Given the description of an element on the screen output the (x, y) to click on. 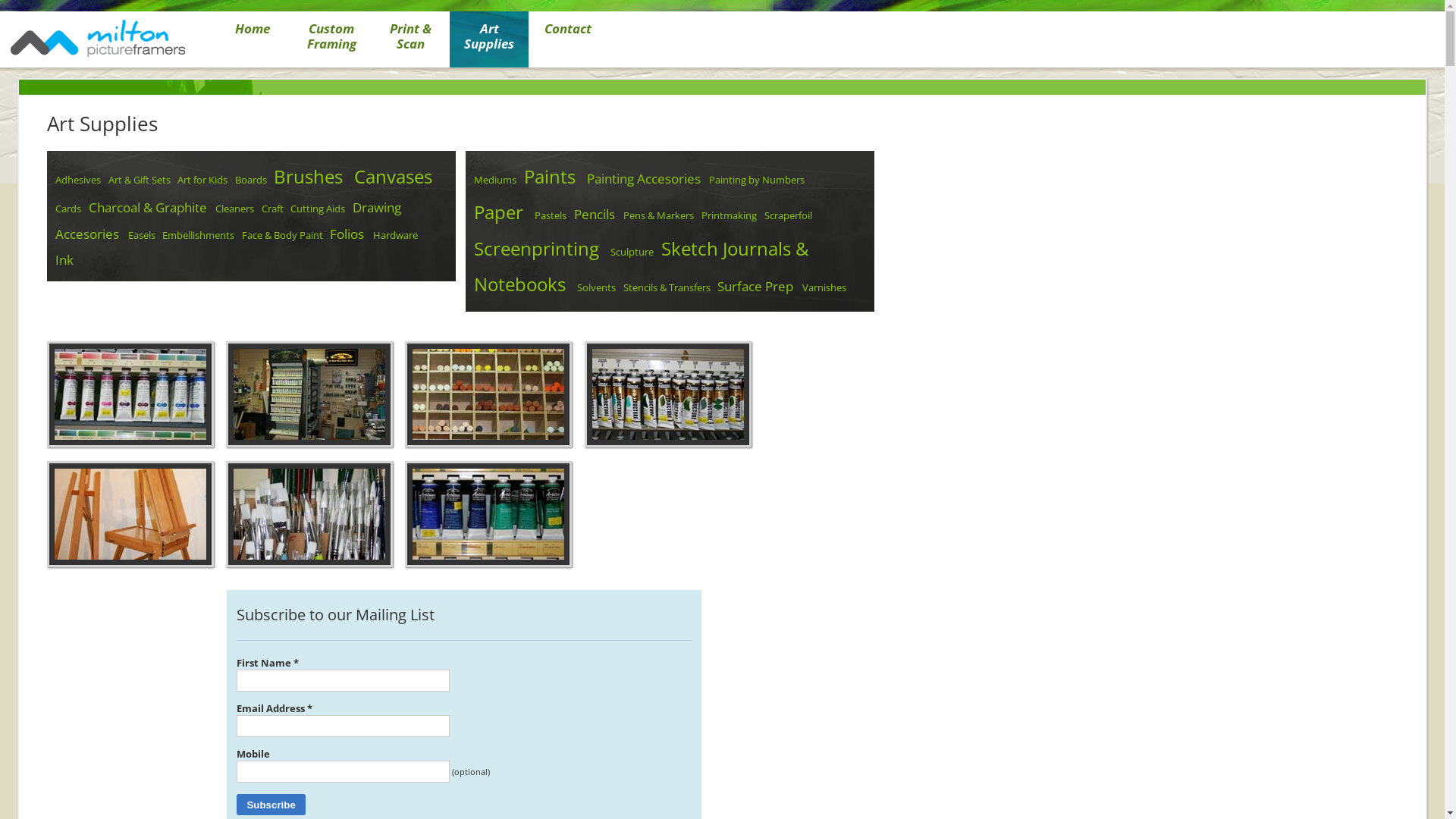
Charcoal & Graphite Element type: text (147, 207)
Hardware Element type: text (395, 234)
Custom Framing Element type: text (331, 41)
Brushes Element type: hover (313, 573)
Adhesives Element type: text (77, 179)
Craft Element type: text (272, 208)
Sculpture Element type: text (631, 251)
Brushes Element type: text (307, 176)
Paper Element type: text (498, 212)
Drawing Accesories Element type: text (228, 219)
Pens & Markers Element type: text (658, 215)
Sketch Journals & Notebooks Element type: text (640, 266)
Contact Element type: text (567, 41)
Matisse Acrylic Element type: hover (672, 454)
Art & Gift Sets Element type: text (139, 179)
Home Element type: text (252, 41)
Printmaking Element type: text (728, 215)
Painting Accesories Element type: text (643, 178)
Canvases Element type: text (393, 176)
Cutting Aids Element type: text (317, 208)
Artshop Element type: hover (313, 454)
Ink Element type: text (64, 259)
Easels Element type: hover (135, 573)
Paints Element type: text (549, 176)
Boards Element type: text (250, 179)
Screenprinting Element type: text (536, 248)
Easels Element type: text (141, 234)
Scraperfoil Element type: text (788, 215)
Soft Pastels Element type: hover (492, 454)
Pencils Element type: text (594, 213)
Cleaners Element type: text (234, 208)
Artisan Paints Element type: hover (492, 573)
Mediums Element type: text (494, 179)
Subscribe Element type: text (270, 804)
Embellishments Element type: text (198, 234)
Face & Body Paint Element type: text (282, 234)
Cards Element type: text (68, 208)
Varnishes Element type: text (824, 287)
Art for Kids Element type: text (202, 179)
Stencils & Transfers Element type: text (666, 287)
Print & Scan Element type: text (409, 41)
Pastels Element type: text (550, 215)
Solvents Element type: text (596, 287)
W&N Oils Element type: hover (135, 454)
Painting by Numbers Element type: text (756, 179)
Folios Element type: text (346, 233)
Art Supplies Element type: text (488, 41)
Surface Prep Element type: text (755, 285)
